Given the description of an element on the screen output the (x, y) to click on. 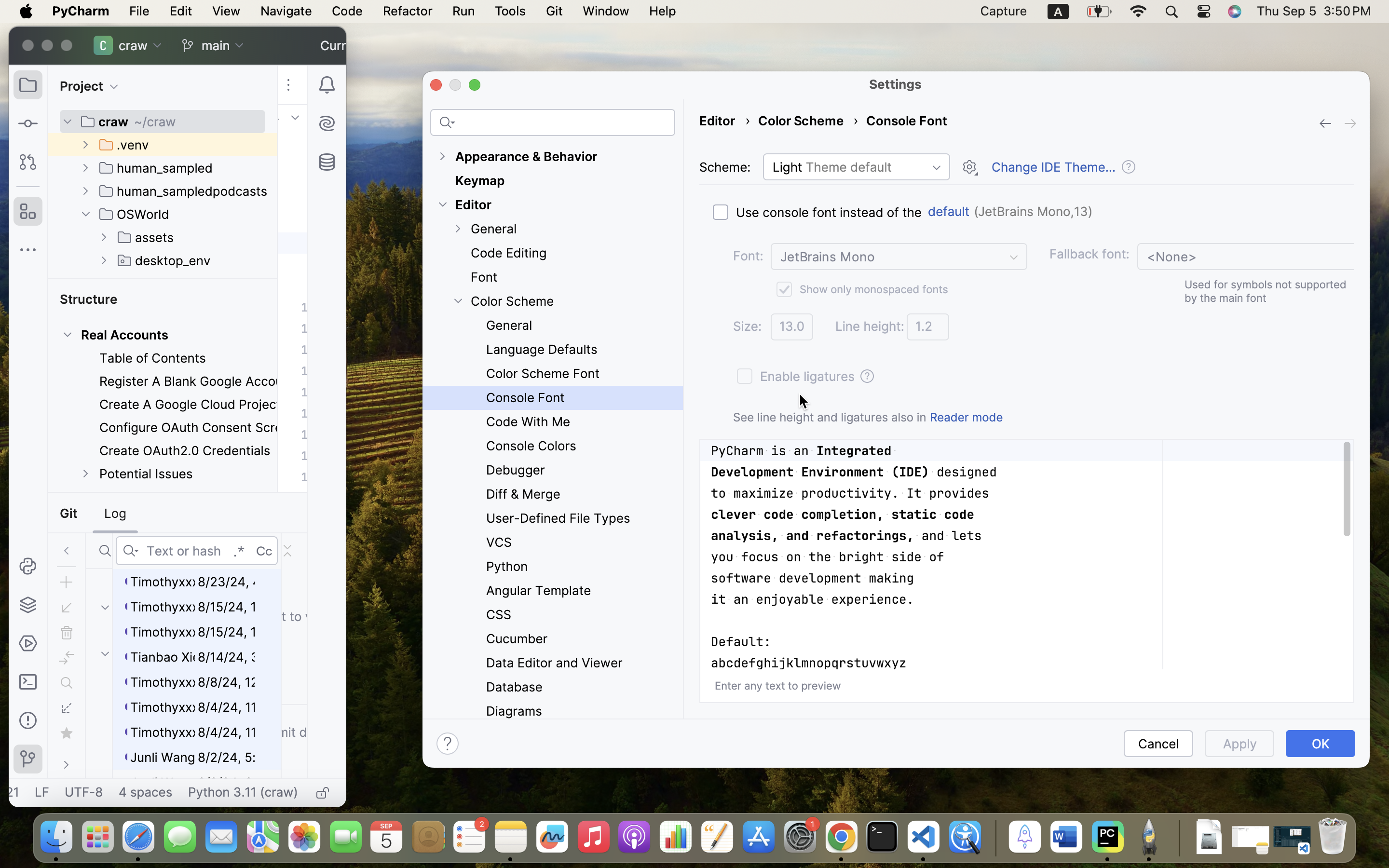
1 Element type: AXCheckBox (860, 288)
1.2 Element type: AXTextField (927, 326)
Line height: Element type: AXStaticText (869, 326)
Font: Element type: AXStaticText (747, 255)
Size: Element type: AXStaticText (747, 326)
